Given the description of an element on the screen output the (x, y) to click on. 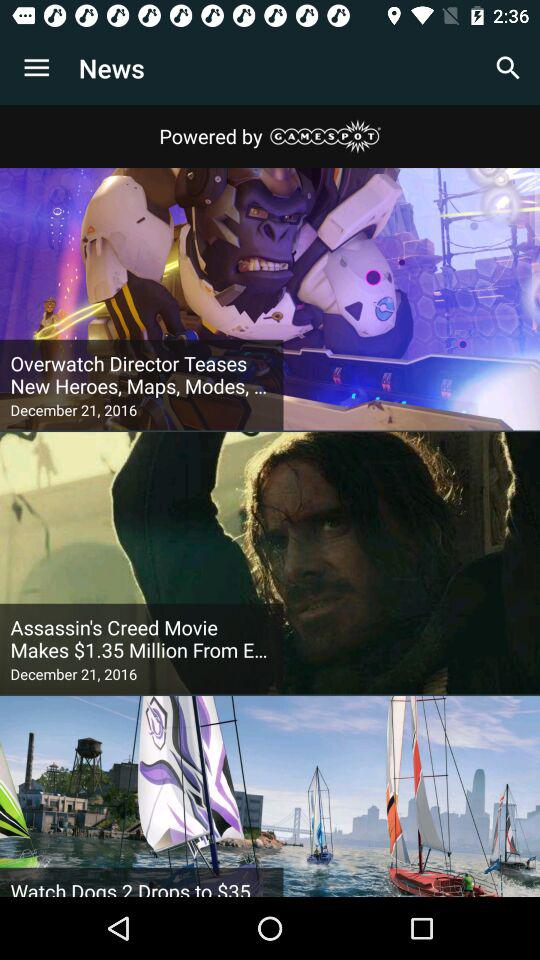
flip until the watch dogs 2 item (141, 887)
